Given the description of an element on the screen output the (x, y) to click on. 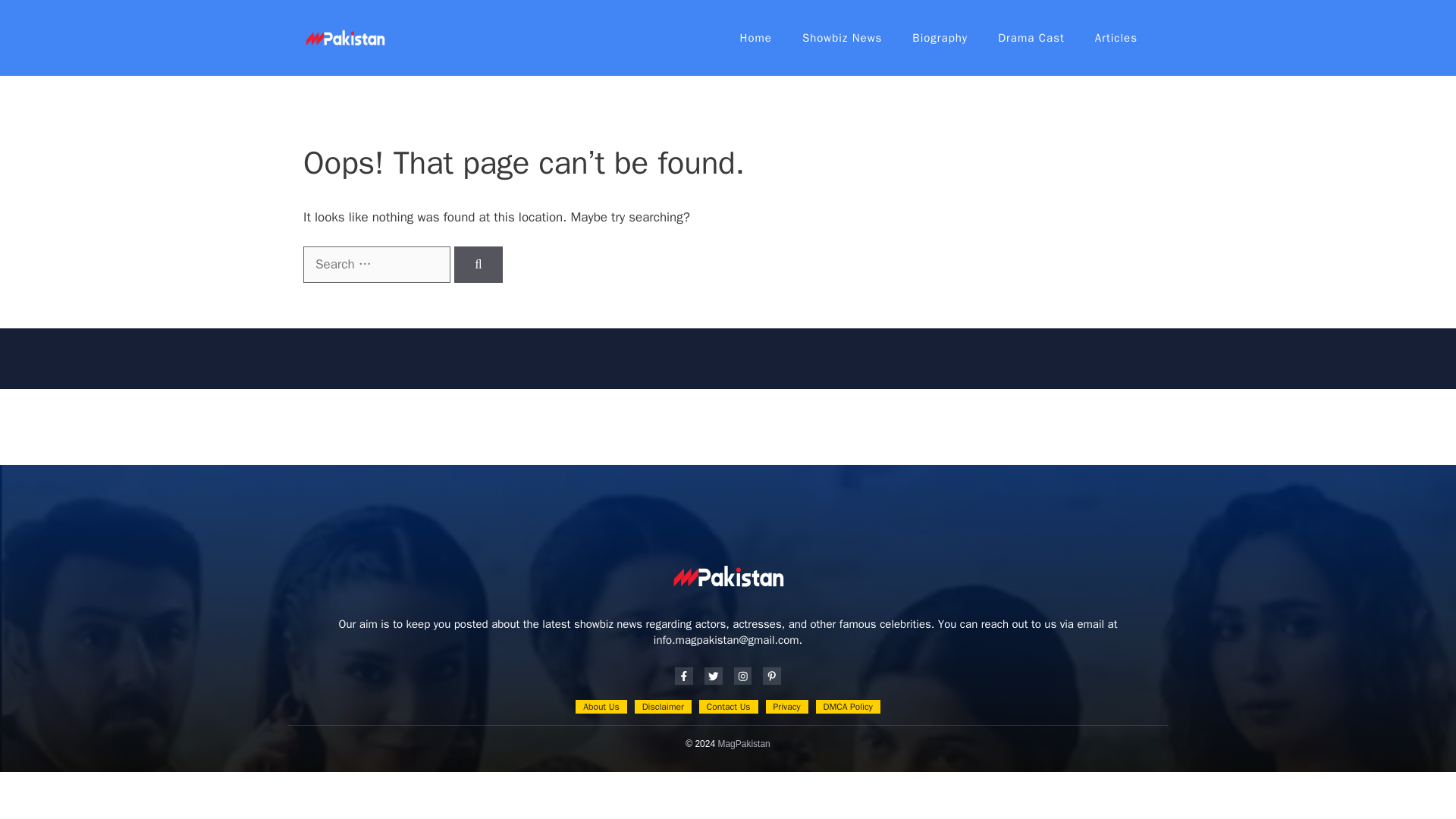
Search for: (375, 264)
MagPakistan (743, 743)
Articles (1116, 37)
Showbiz News (841, 37)
DMCA Policy (847, 706)
Privacy (786, 706)
Drama Cast (1031, 37)
Contact Us (728, 706)
About Us (600, 706)
Disclaimer (662, 706)
Home (756, 37)
Biography (939, 37)
